Given the description of an element on the screen output the (x, y) to click on. 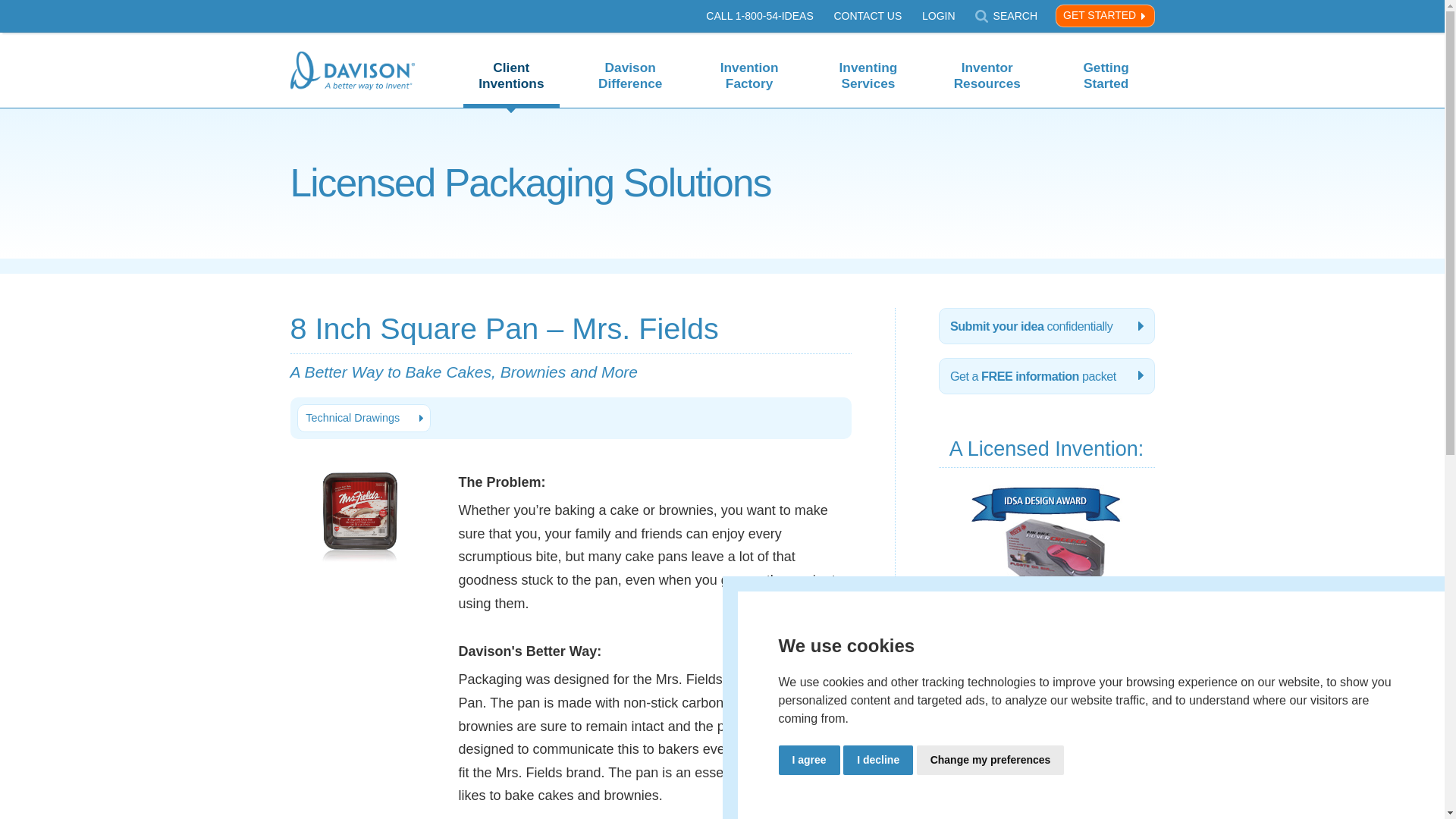
Davison Difference (629, 65)
Inventor Resources (987, 65)
LOGIN (938, 15)
Invention Factory (748, 65)
Davison's Home Page (351, 72)
I decline (877, 758)
GET STARTED (1104, 15)
CALL 1-800-54-IDEAS (759, 15)
I agree (808, 758)
Submit (1035, 15)
Inventing Services (868, 65)
SEARCH (1005, 16)
Getting Started (1106, 65)
Submit (1035, 15)
Client Inventions (511, 65)
